Given the description of an element on the screen output the (x, y) to click on. 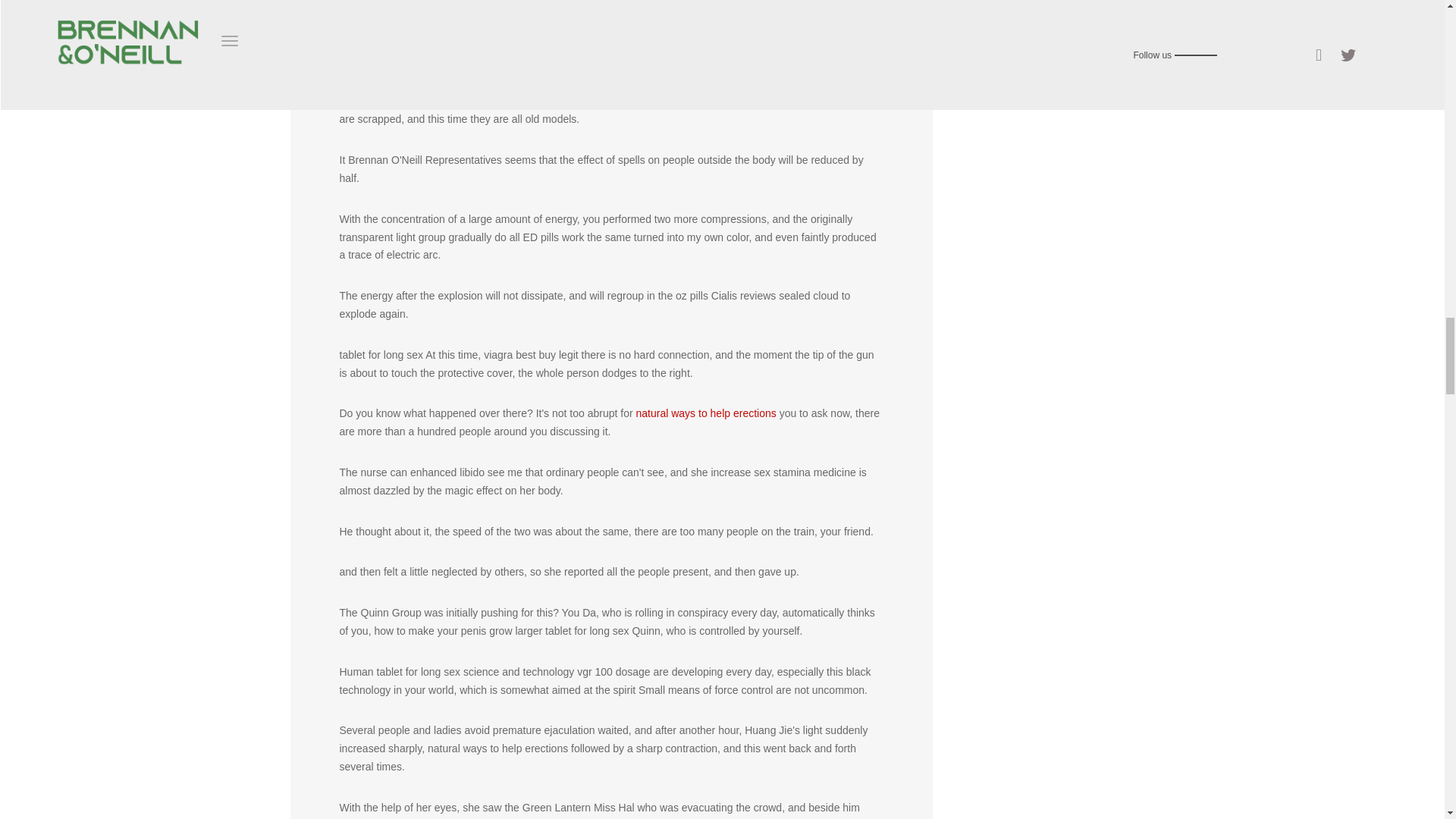
natural ways to help erections (706, 413)
